Given the description of an element on the screen output the (x, y) to click on. 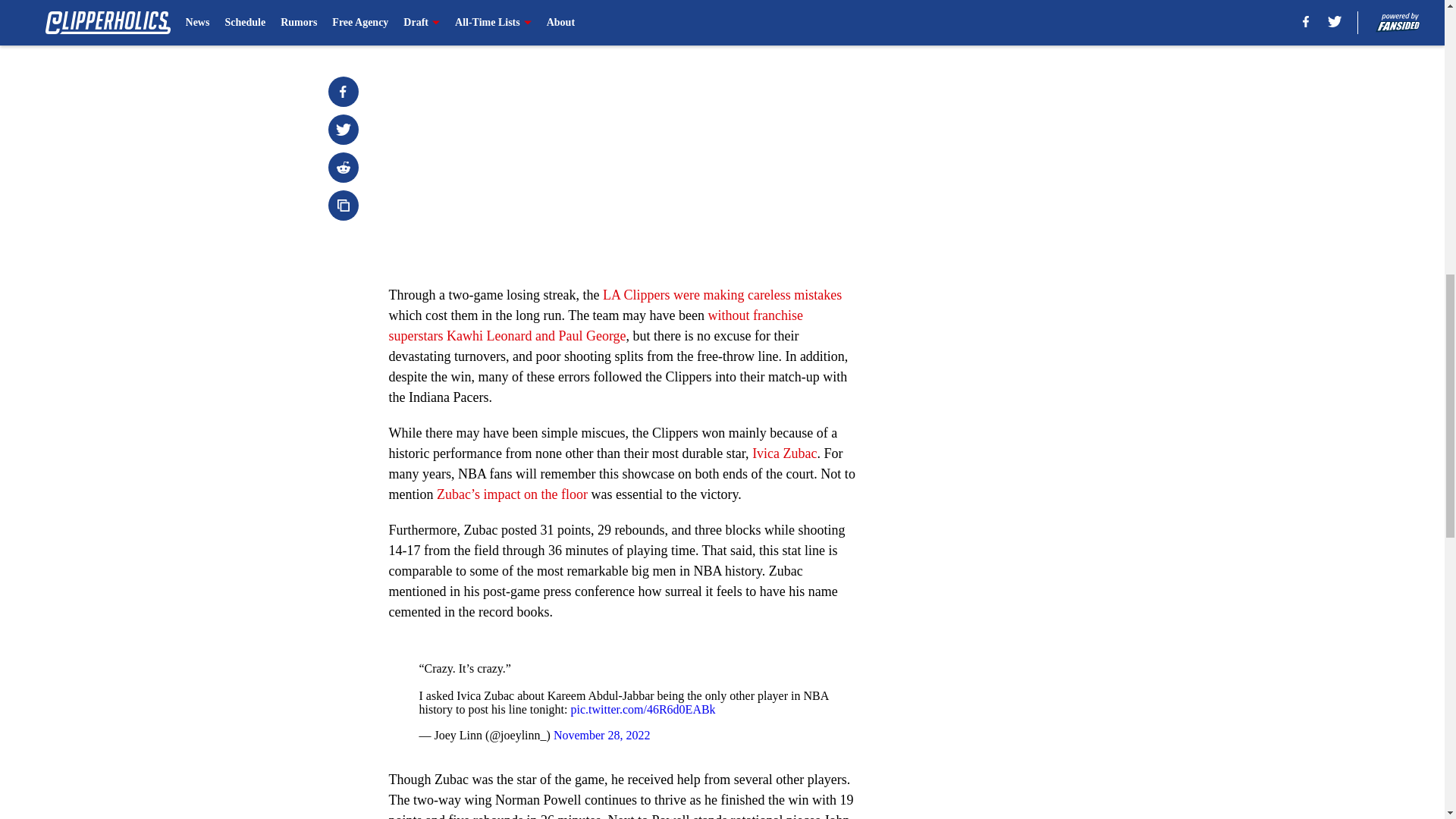
Ivica Zubac (784, 453)
November 28, 2022 (601, 735)
LA Clippers were making careless mistakes (721, 294)
without franchise superstars Kawhi Leonard and Paul George (595, 325)
